Given the description of an element on the screen output the (x, y) to click on. 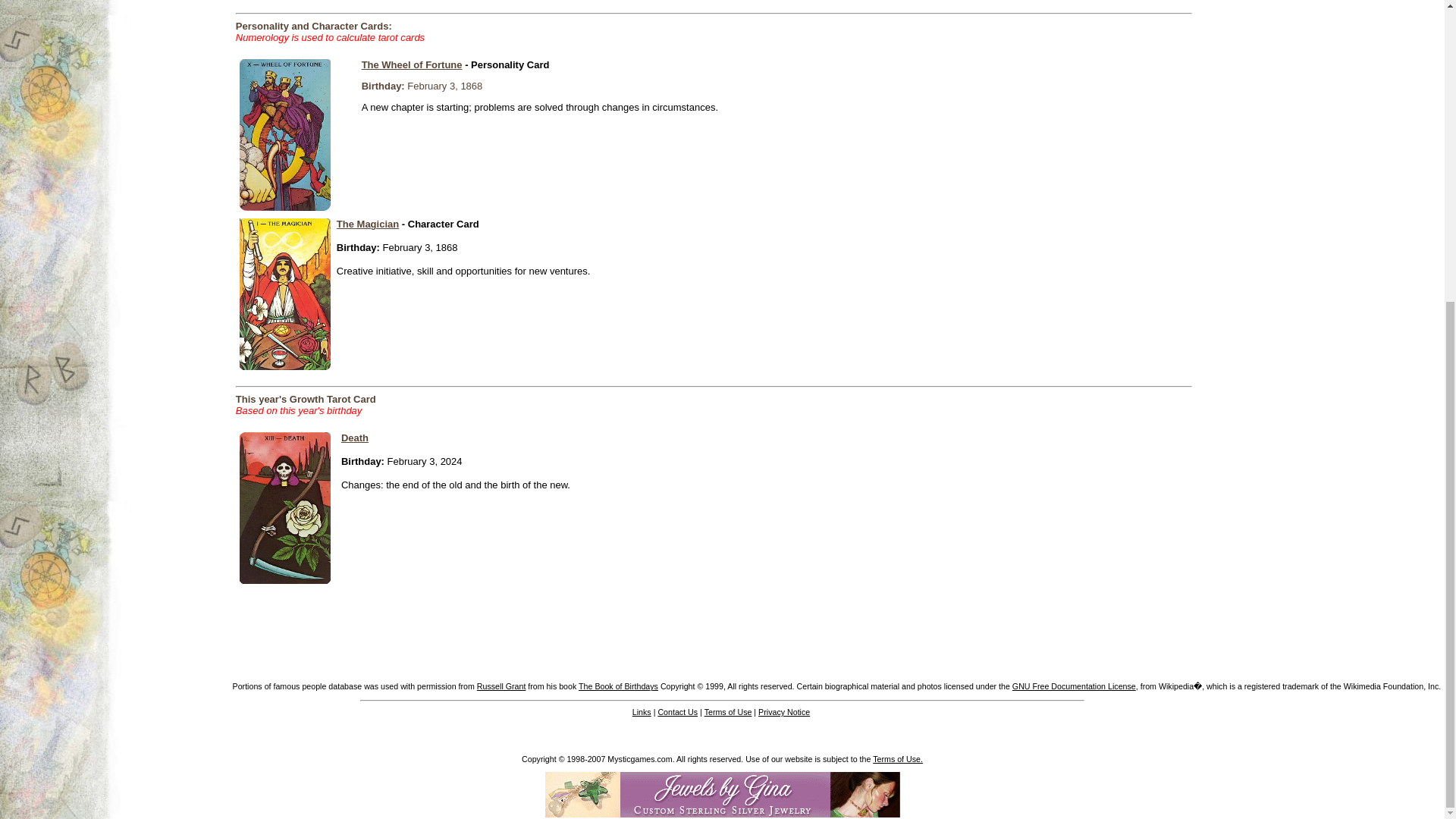
Terms of Use (728, 711)
Advertisement (1260, 33)
Privacy Notice (783, 711)
Links (640, 711)
The Book of Birthdays (618, 686)
The Wheel of Fortune (412, 64)
Russell Grant (501, 686)
Death (354, 437)
GNU Free Documentation License (1073, 686)
Terms of Use. (897, 758)
Custom sterling silver jewelry (721, 794)
The Magician (367, 224)
Contact Us (677, 711)
